Given the description of an element on the screen output the (x, y) to click on. 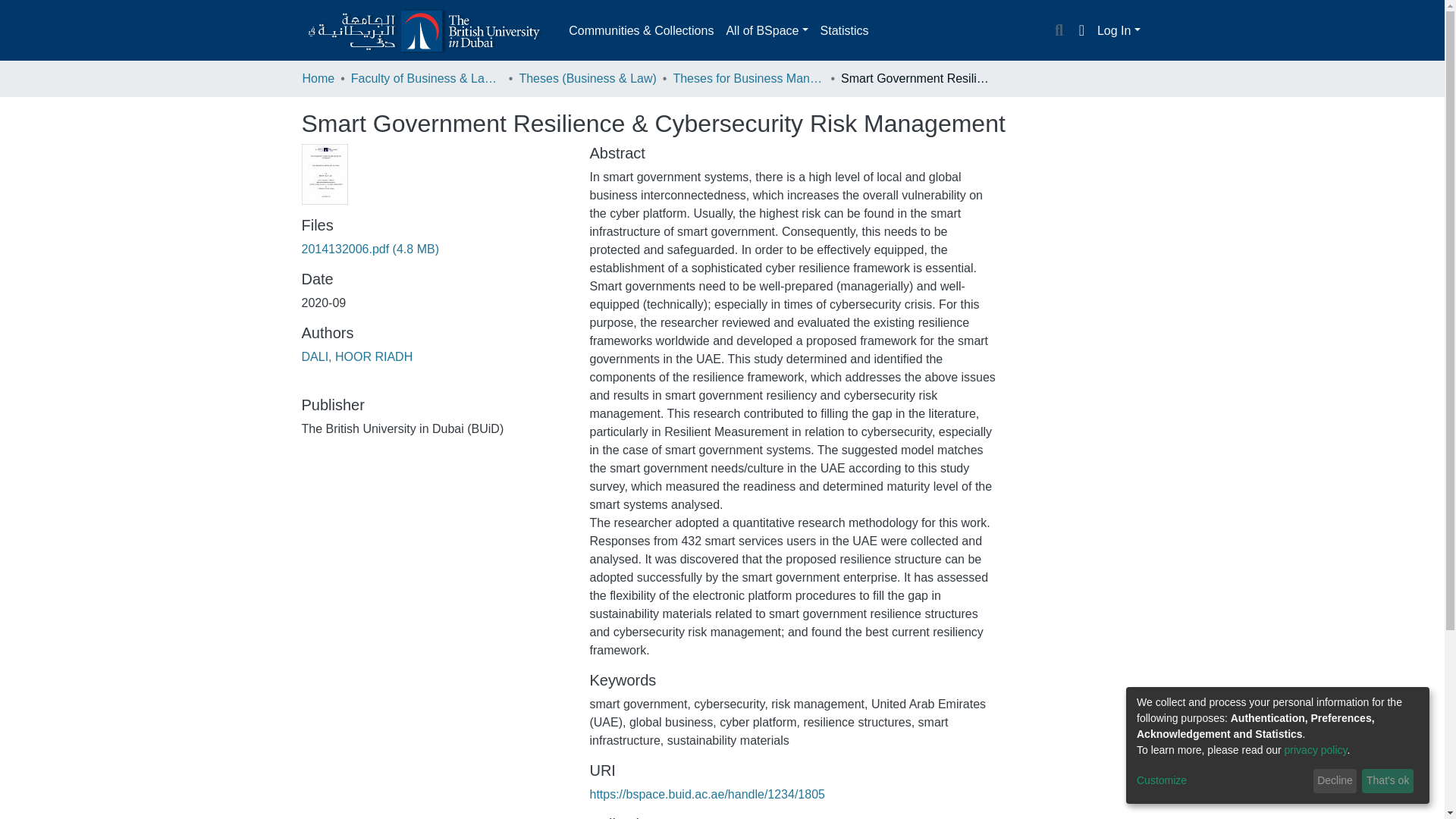
DALI, HOOR RIADH (357, 356)
Statistics (844, 30)
Search (1058, 30)
Theses for Business Management (748, 78)
privacy policy (1316, 749)
Language switch (1081, 30)
Home (317, 78)
Customize (1222, 780)
Decline (1334, 781)
Log In (1118, 30)
